Given the description of an element on the screen output the (x, y) to click on. 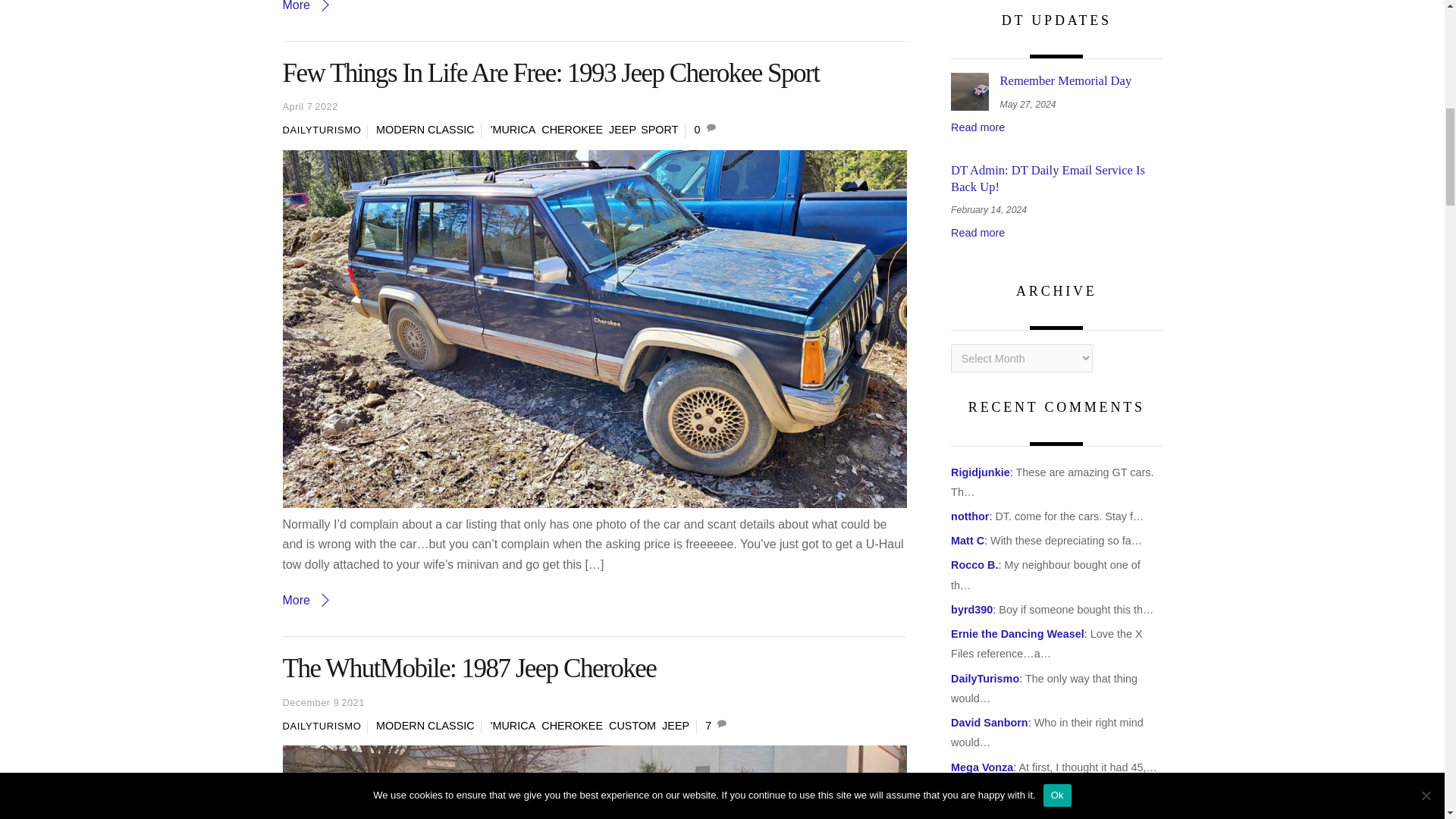
The WhutMobile: 1987 Jeep Cherokee (469, 668)
4-16 (594, 782)
CHEROKEE (571, 725)
DAILYTURISMO (321, 129)
More (306, 5)
SPORT (659, 129)
JEEP (621, 129)
MODERN CLASSIC (424, 725)
DAILYTURISMO (321, 726)
Few Things In Life Are Free: 1993 Jeep Cherokee Sport (550, 72)
More (306, 599)
'MURICA (512, 725)
CHEROKEE (571, 129)
MODERN CLASSIC (424, 129)
